Given the description of an element on the screen output the (x, y) to click on. 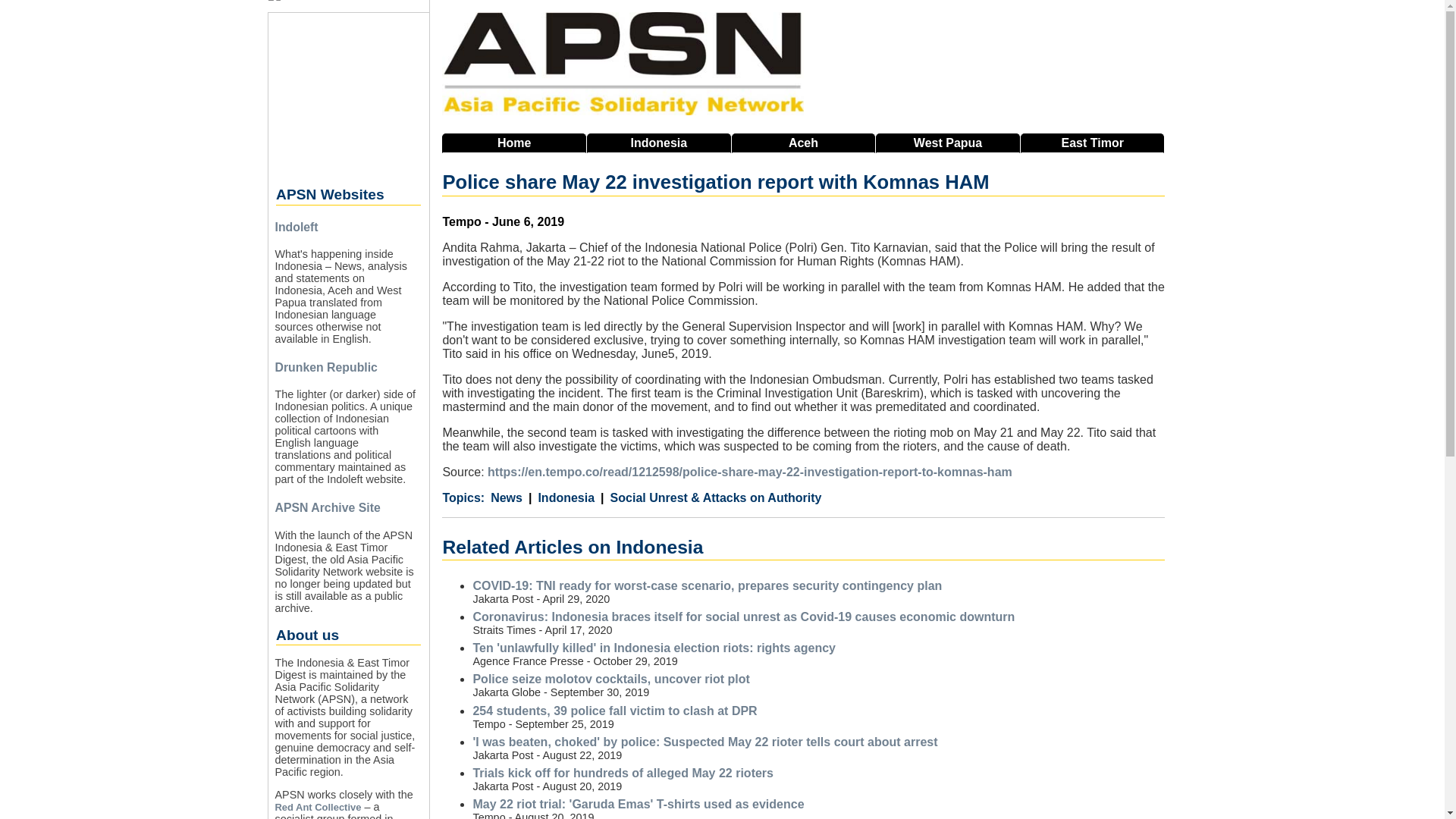
News (506, 498)
West Papua (948, 143)
Aceh (804, 143)
Drunken Republic (326, 367)
Trials kick off for hundreds of alleged May 22 rioters (622, 772)
Indonesia (658, 143)
May 22 riot trial: 'Garuda Emas' T-shirts used as evidence (637, 803)
Indonesia (561, 498)
Indoleft (296, 226)
Police seize molotov cocktails, uncover riot plot (610, 678)
East Timor (1092, 143)
254 students, 39 police fall victim to clash at DPR (614, 710)
